Given the description of an element on the screen output the (x, y) to click on. 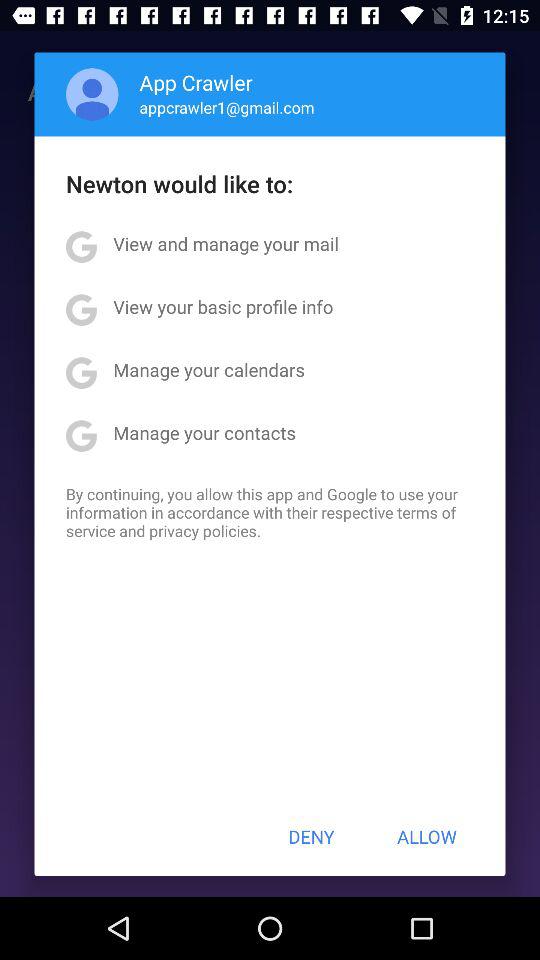
turn off the app below the newton would like item (225, 243)
